Given the description of an element on the screen output the (x, y) to click on. 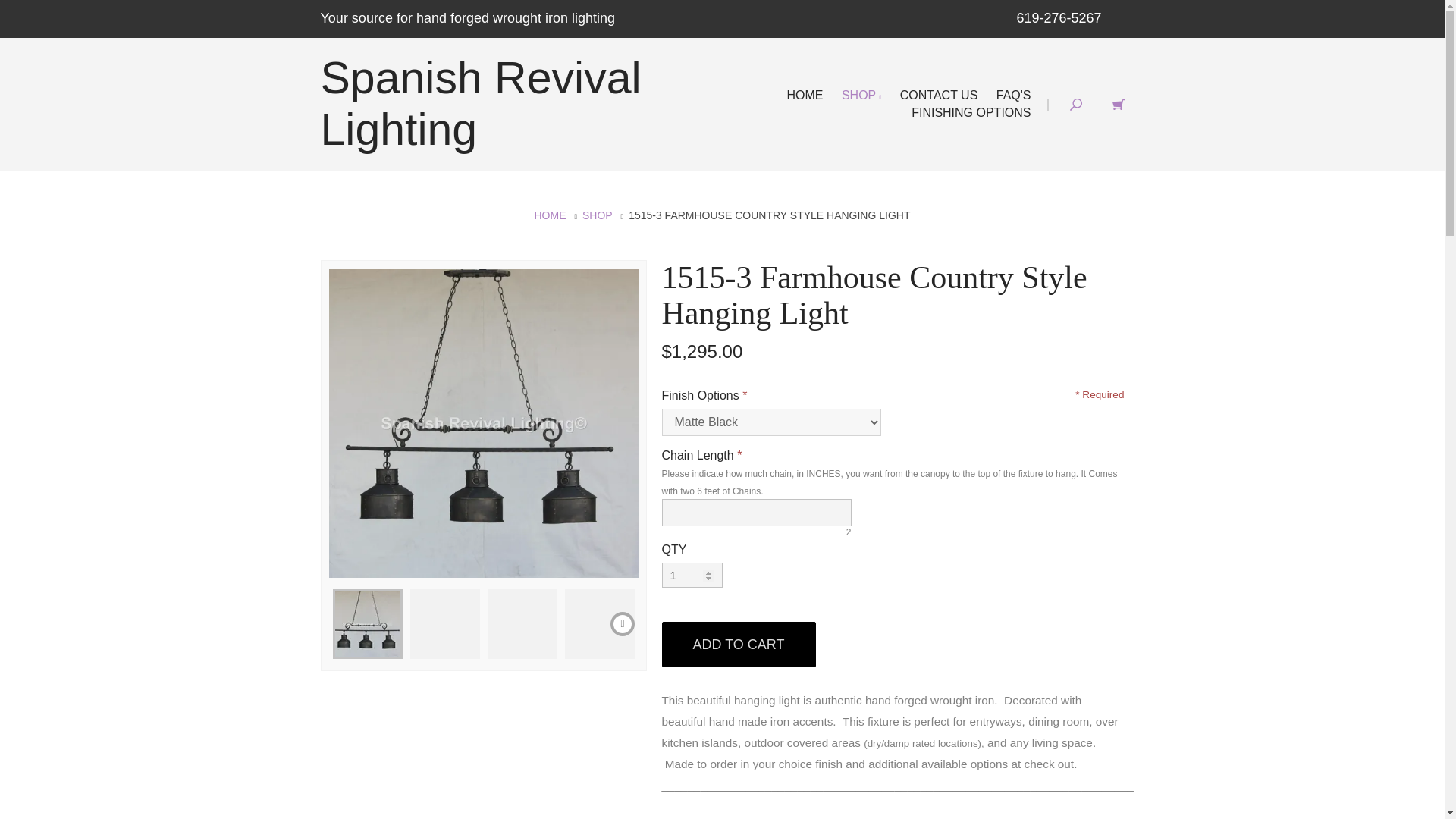
Spanish Revival Lighting (480, 103)
FAQ'S (1013, 94)
1 (691, 575)
SHOP (861, 94)
Add to Cart (738, 644)
SHOP (597, 215)
HOME (550, 215)
Add to Cart (738, 644)
CONTACT US (938, 94)
FINISHING OPTIONS (971, 112)
HOME (803, 94)
